Given the description of an element on the screen output the (x, y) to click on. 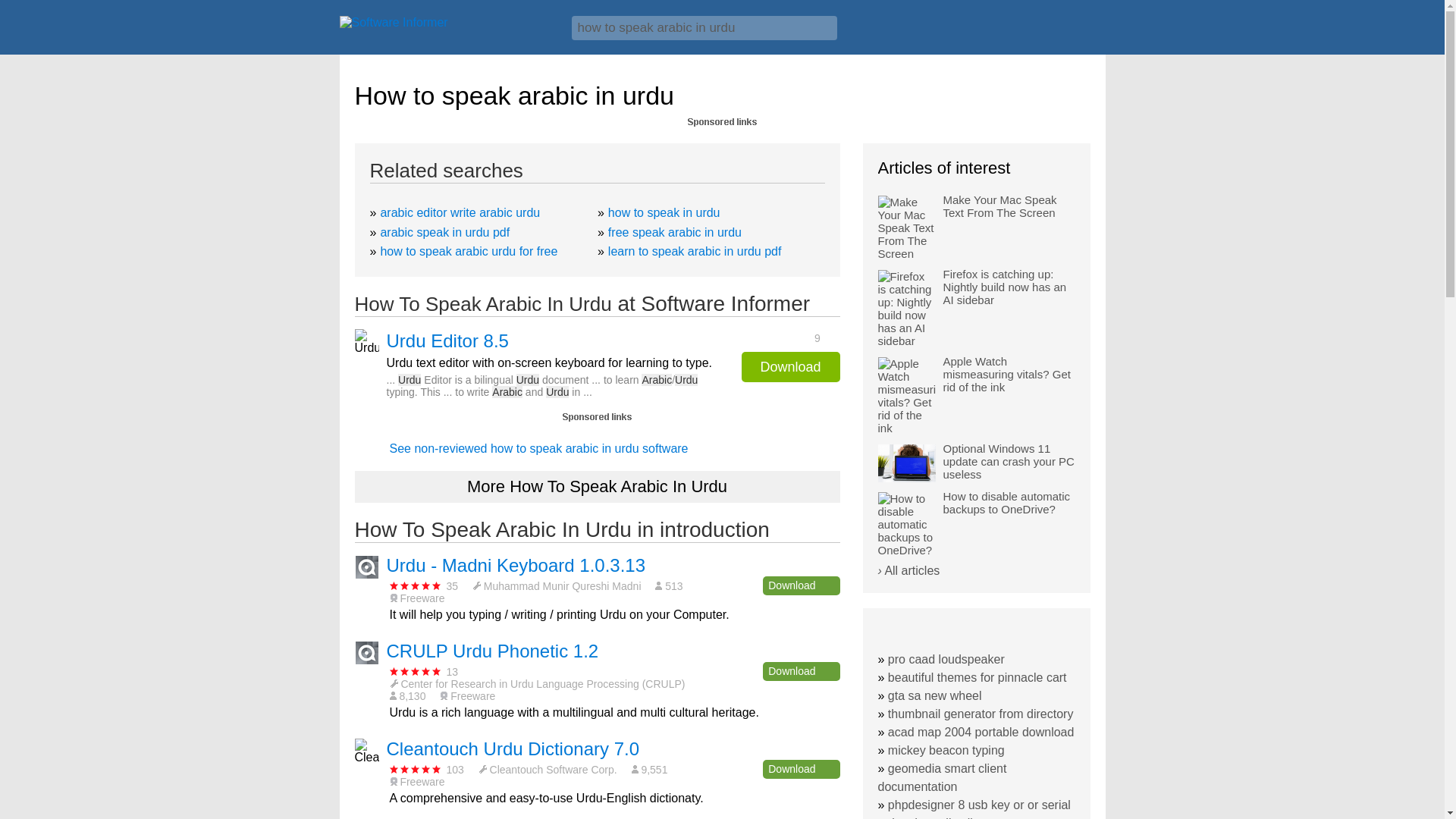
3.7 (415, 585)
Download (801, 585)
Download (801, 769)
arabic speak in urdu pdf (444, 232)
CRULP Urdu Phonetic 1.2 (492, 650)
CRULP Urdu Phonetic 1.2 (492, 650)
how to speak in urdu (664, 212)
arabic editor write arabic urdu (460, 212)
Windows (1070, 33)
3.6 (415, 768)
9 votes (785, 336)
Urdu Editor 8.5 (447, 340)
free speak arabic in urdu (674, 232)
Urdu Editor 8.5 (447, 340)
